Given the description of an element on the screen output the (x, y) to click on. 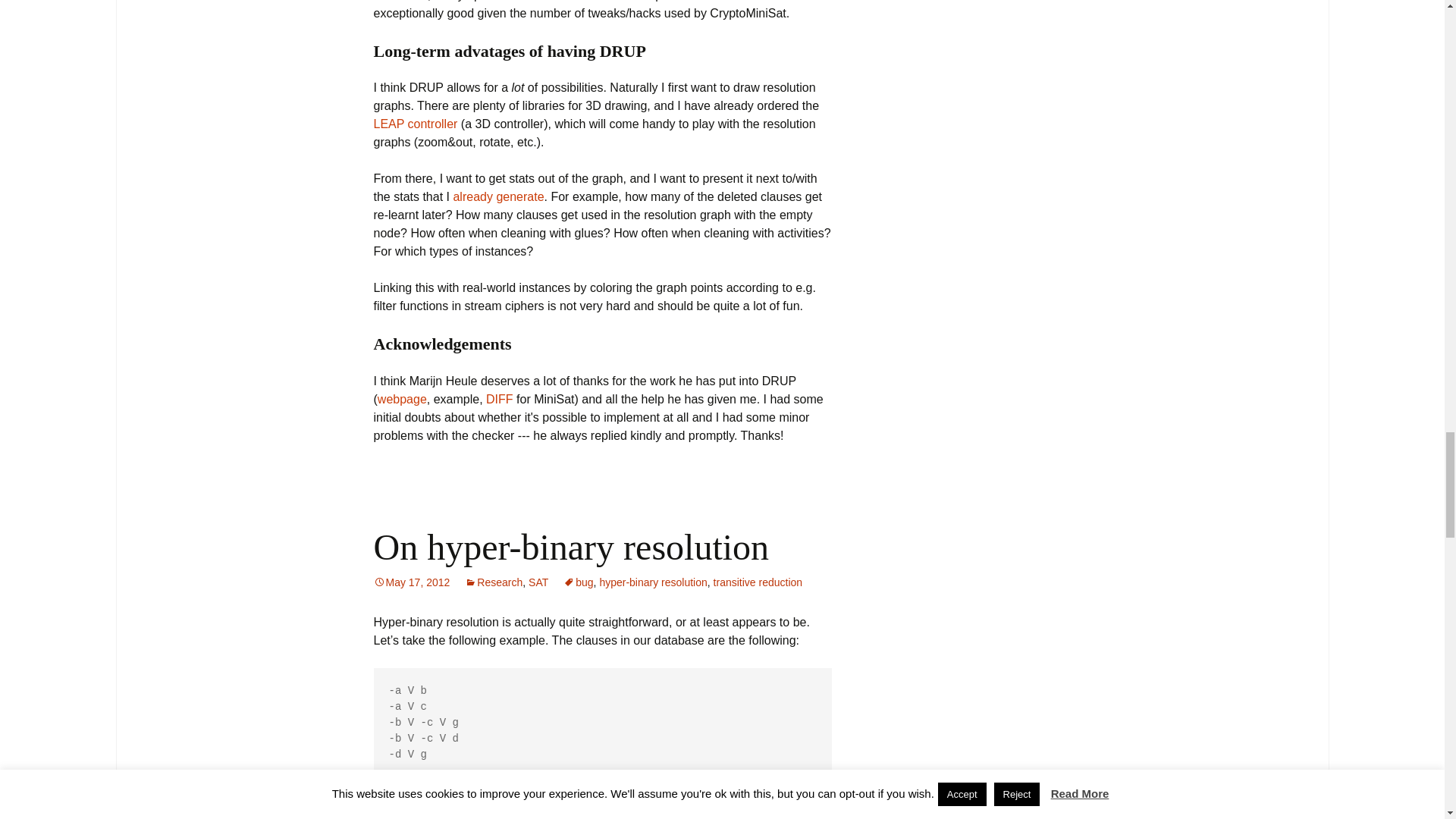
LEAP controller (414, 123)
Permalink to On hyper-binary resolution (410, 582)
